Given the description of an element on the screen output the (x, y) to click on. 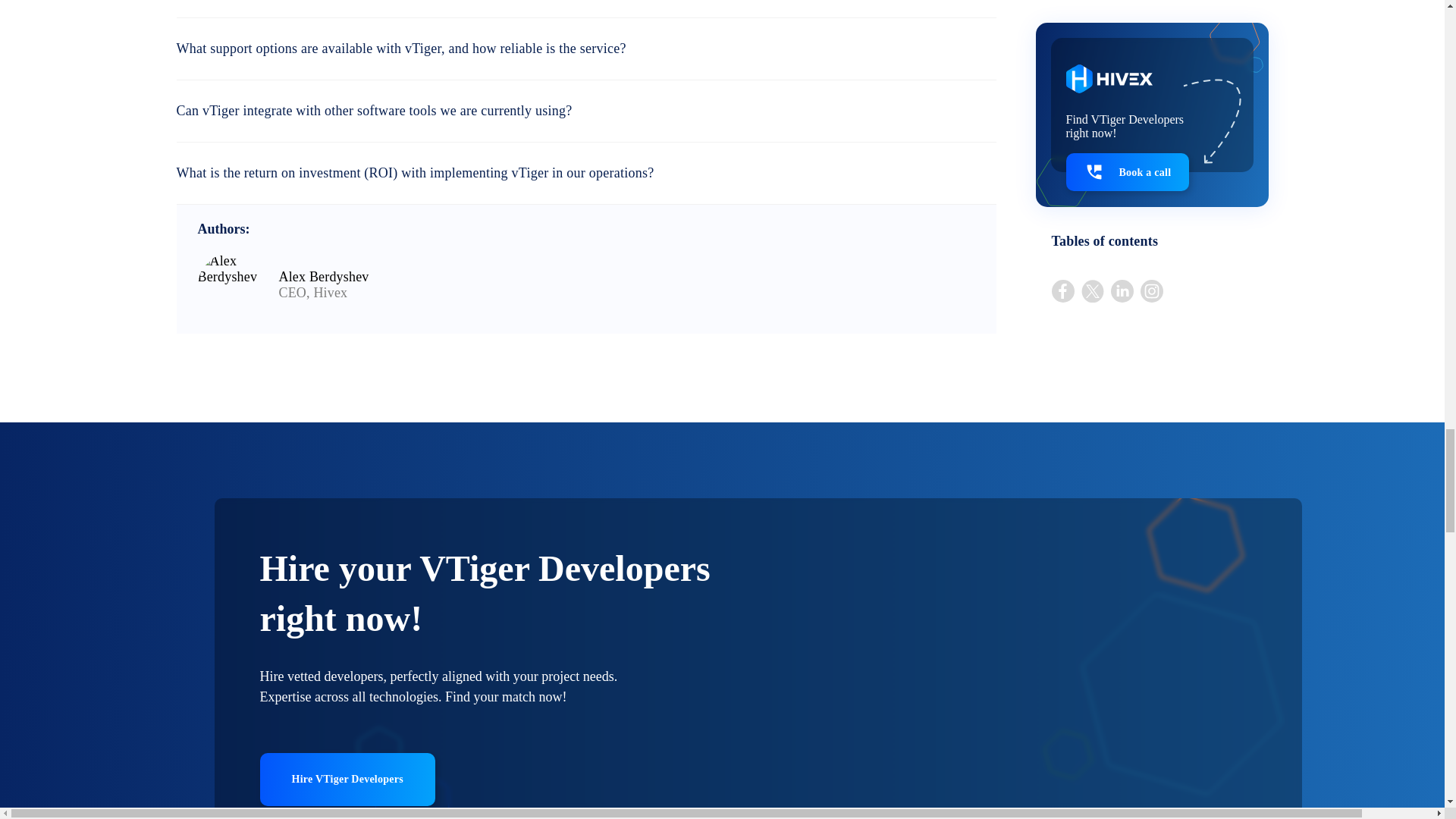
Hire VTiger Developers (346, 778)
